Given the description of an element on the screen output the (x, y) to click on. 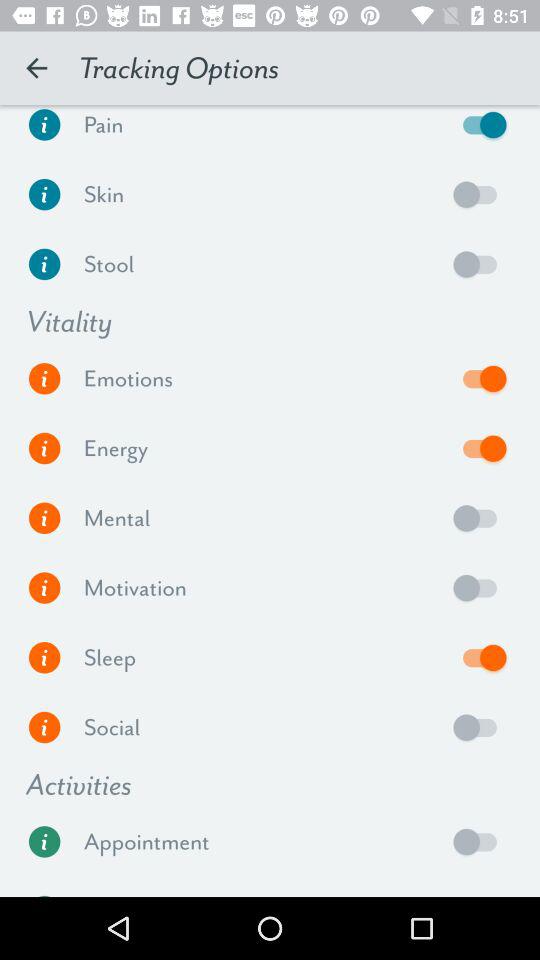
more information (44, 657)
